Given the description of an element on the screen output the (x, y) to click on. 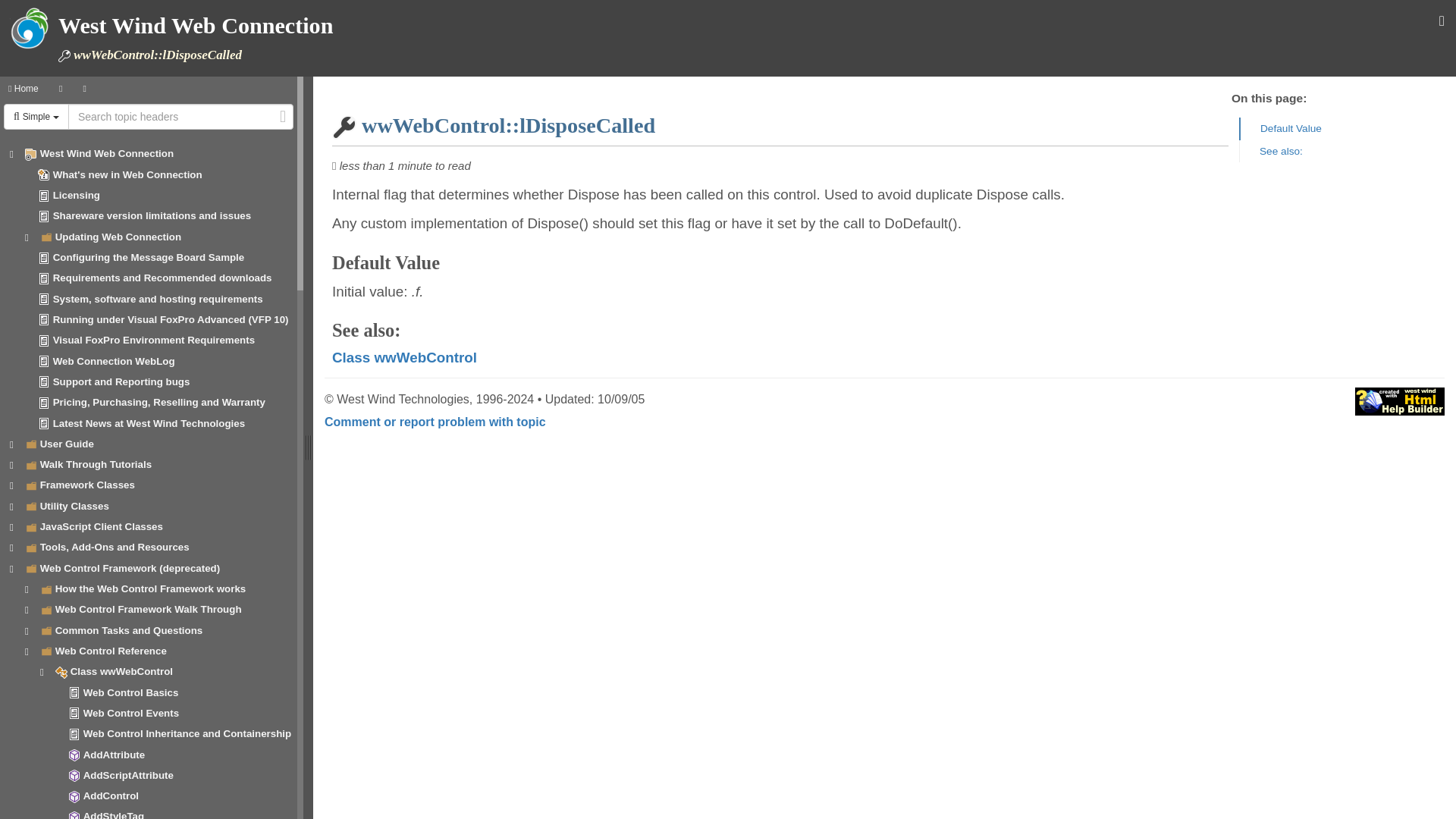
Requirements and Recommended downloads (162, 277)
System, software and hosting requirements (157, 298)
Licensing (76, 194)
Simple (36, 116)
Updating Web Connection (117, 236)
West Wind Web Connection (106, 153)
Configuring the Message Board Sample (148, 256)
What's new in Web Connection (127, 174)
Shareware version limitations and issues (151, 215)
Latest News at West Wind Technologies (148, 423)
Pricing, Purchasing, Reselling and Warranty (158, 401)
User Guide (67, 443)
Web Connection WebLog (113, 360)
Support and Reporting bugs (121, 381)
Home (23, 87)
